Given the description of an element on the screen output the (x, y) to click on. 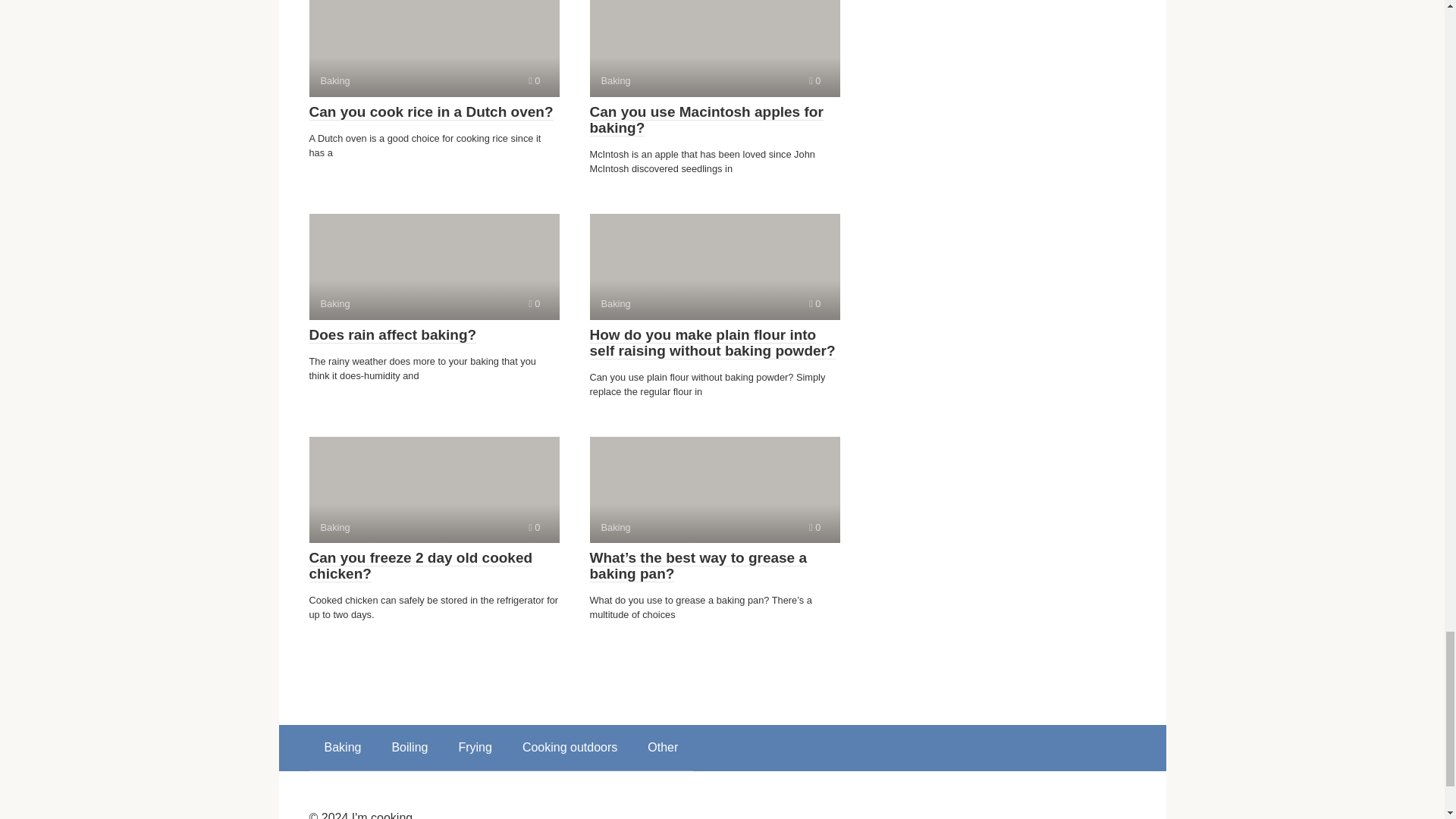
Can you freeze 2 day old cooked chicken? (420, 565)
Does rain affect baking? (392, 334)
Comments (534, 80)
Comments (714, 266)
Can you use Macintosh apples for baking? (534, 527)
Comments (706, 120)
Can you cook rice in a Dutch oven? (714, 48)
